Given the description of an element on the screen output the (x, y) to click on. 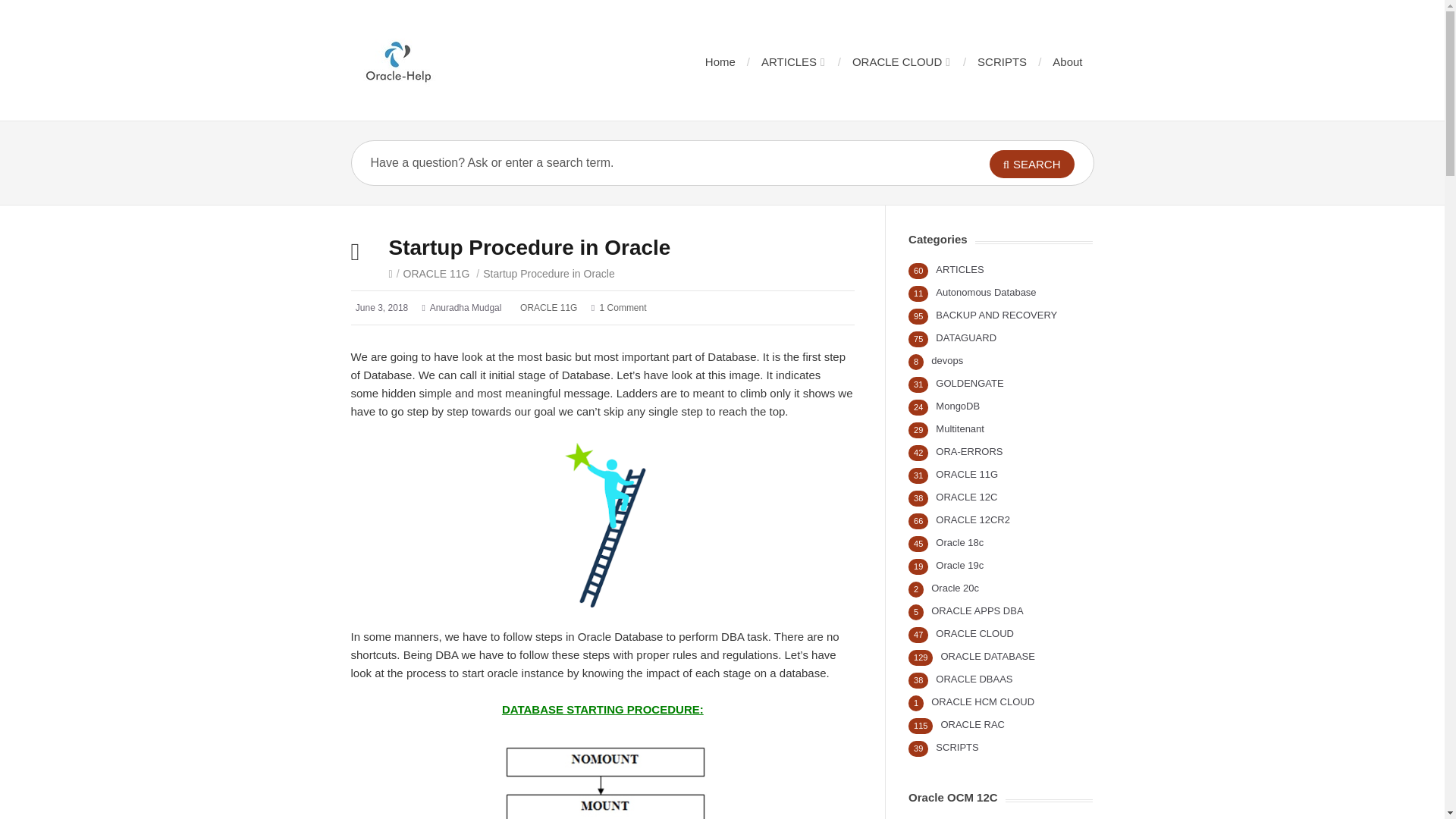
Home (719, 60)
View all posts in ORACLE 11G (436, 273)
ARTICLES (792, 60)
Have a question? Ask or enter a search term. (648, 162)
ORACLE-HELP (398, 60)
